Given the description of an element on the screen output the (x, y) to click on. 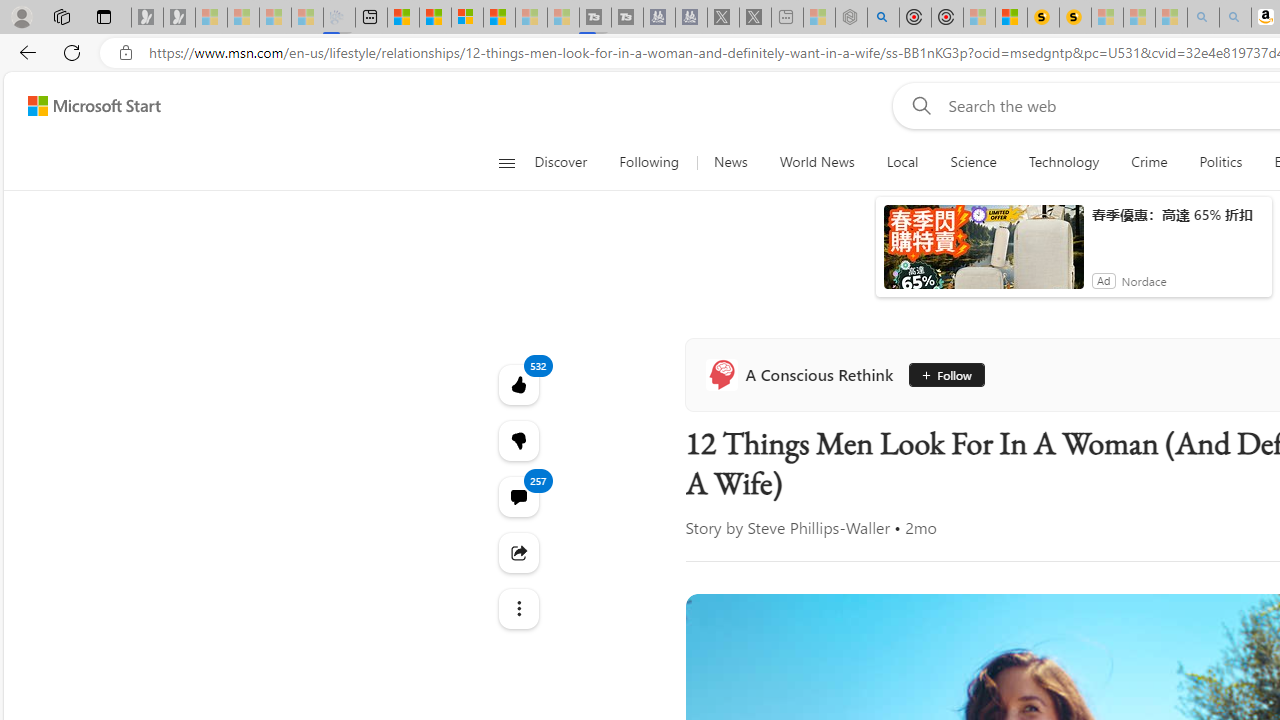
Politics (1220, 162)
Crime (1149, 162)
532 Like (517, 384)
Share this story (517, 552)
Microsoft Start - Sleeping (530, 17)
Skip to footer (82, 105)
Follow (946, 374)
